Given the description of an element on the screen output the (x, y) to click on. 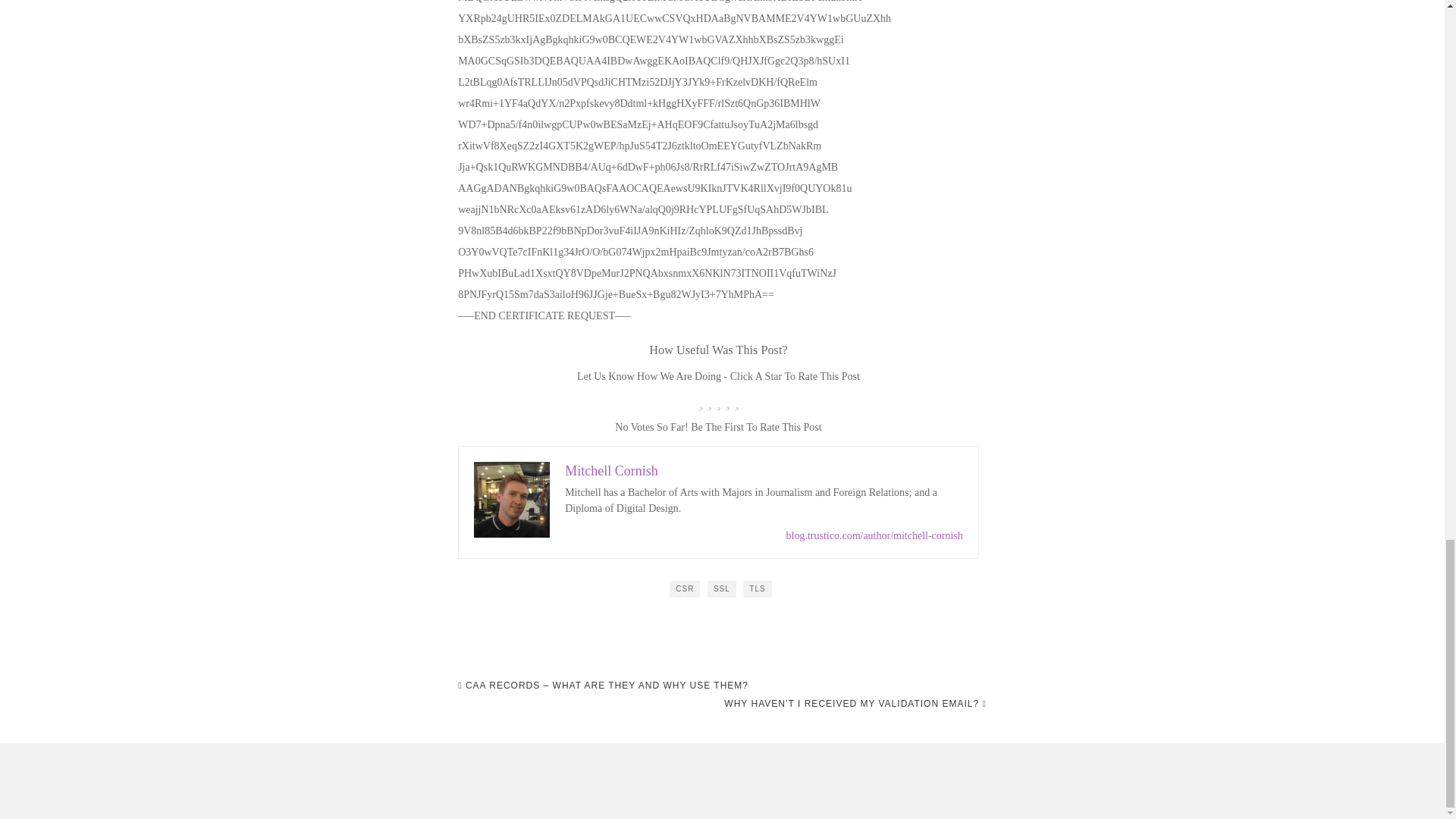
Mitchell Cornish (611, 470)
TLS (756, 588)
SSL (721, 588)
CSR (684, 588)
